Given the description of an element on the screen output the (x, y) to click on. 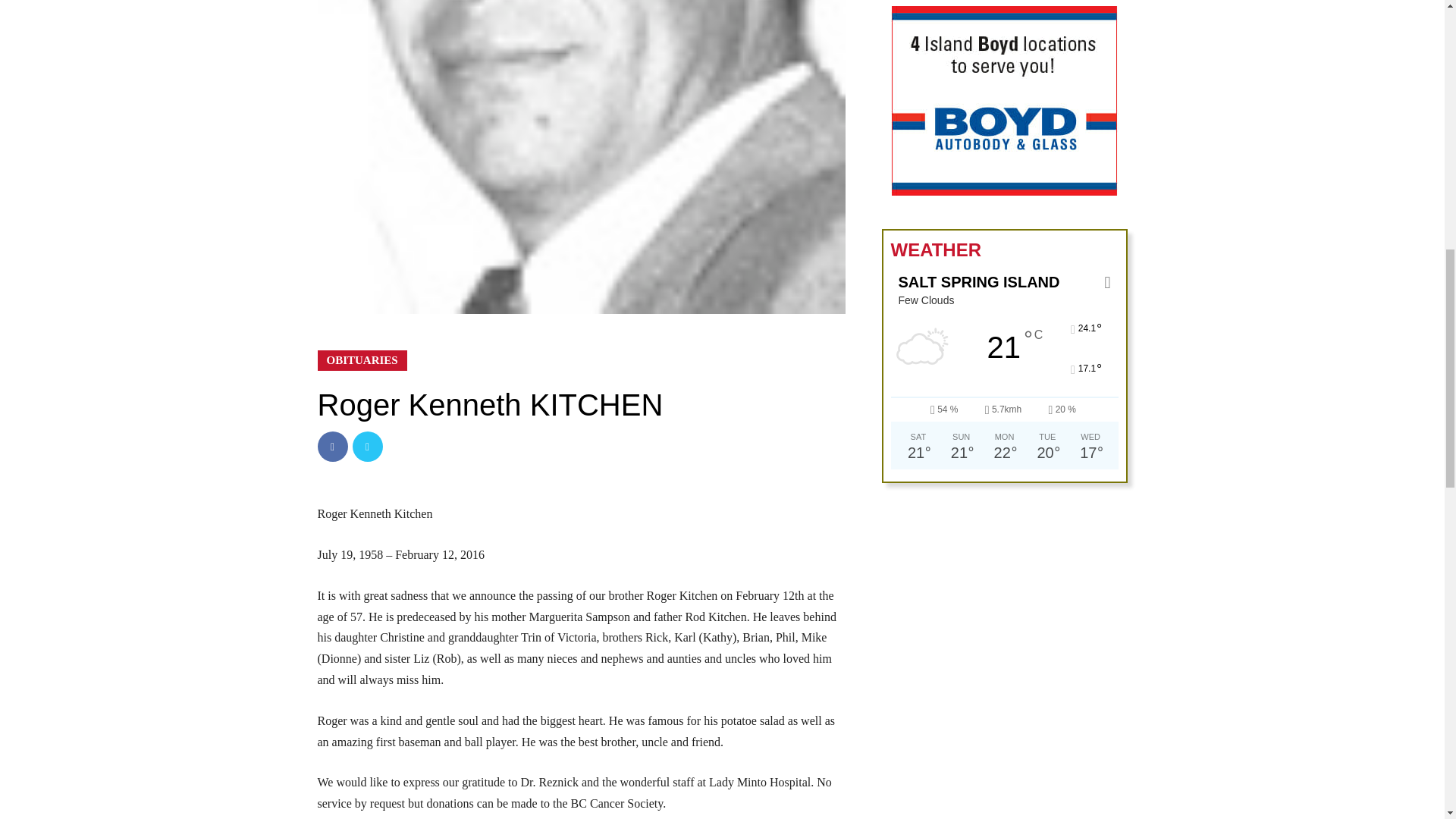
Facebook (332, 446)
Twitter (366, 446)
